Given the description of an element on the screen output the (x, y) to click on. 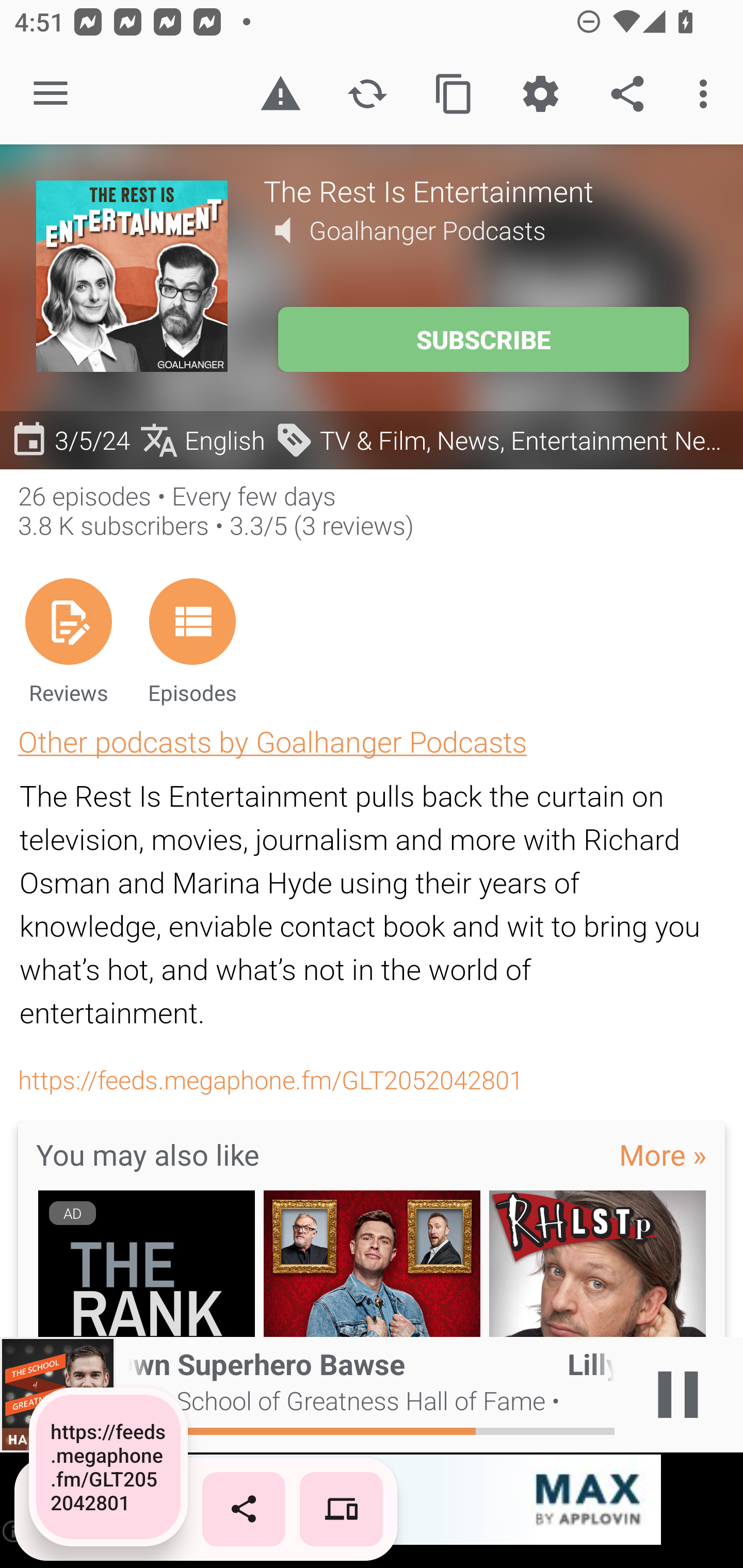
Open navigation sidebar (50, 93)
Report inappropriate content (280, 93)
Refresh podcast description (366, 93)
Copy feed url to clipboard (453, 93)
Custom Settings (540, 93)
Share the podcast (626, 93)
More options (706, 93)
The Rest Is Entertainment (484, 190)
Goalhanger Podcasts (427, 230)
SUBSCRIBE (482, 339)
TV & Film, News, Entertainment News, Arts, Books (504, 439)
Reviews (68, 640)
Episodes (192, 640)
Other podcasts by Goalhanger Podcasts (272, 740)
More » (662, 1154)
AD (145, 1263)
Play / Pause (677, 1394)
